Given the description of an element on the screen output the (x, y) to click on. 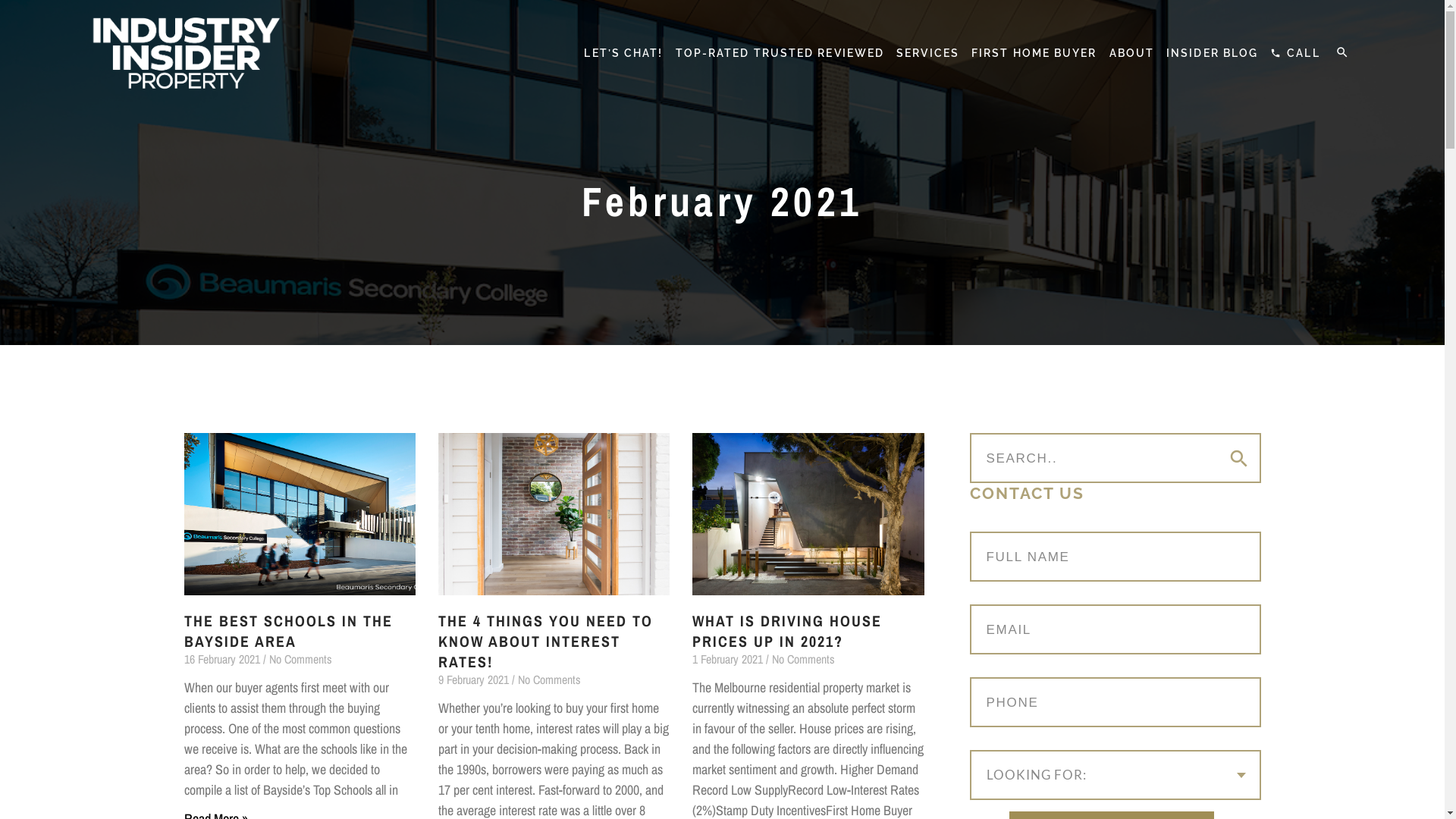
TOP-RATED TRUSTED REVIEWED Element type: text (780, 52)
SERVICES Element type: text (927, 52)
search Element type: text (1342, 51)
phoneCALL Element type: text (1294, 52)
WHAT IS DRIVING HOUSE PRICES UP IN 2021? Element type: text (786, 630)
search Element type: text (1237, 458)
FIRST HOME BUYER Element type: text (1034, 52)
THE BEST SCHOOLS IN THE BAYSIDE AREA Element type: text (287, 630)
THE 4 THINGS YOU NEED TO KNOW ABOUT INTEREST RATES! Element type: text (545, 640)
ABOUT Element type: text (1132, 52)
INSIDER BLOG Element type: text (1212, 52)
